Given the description of an element on the screen output the (x, y) to click on. 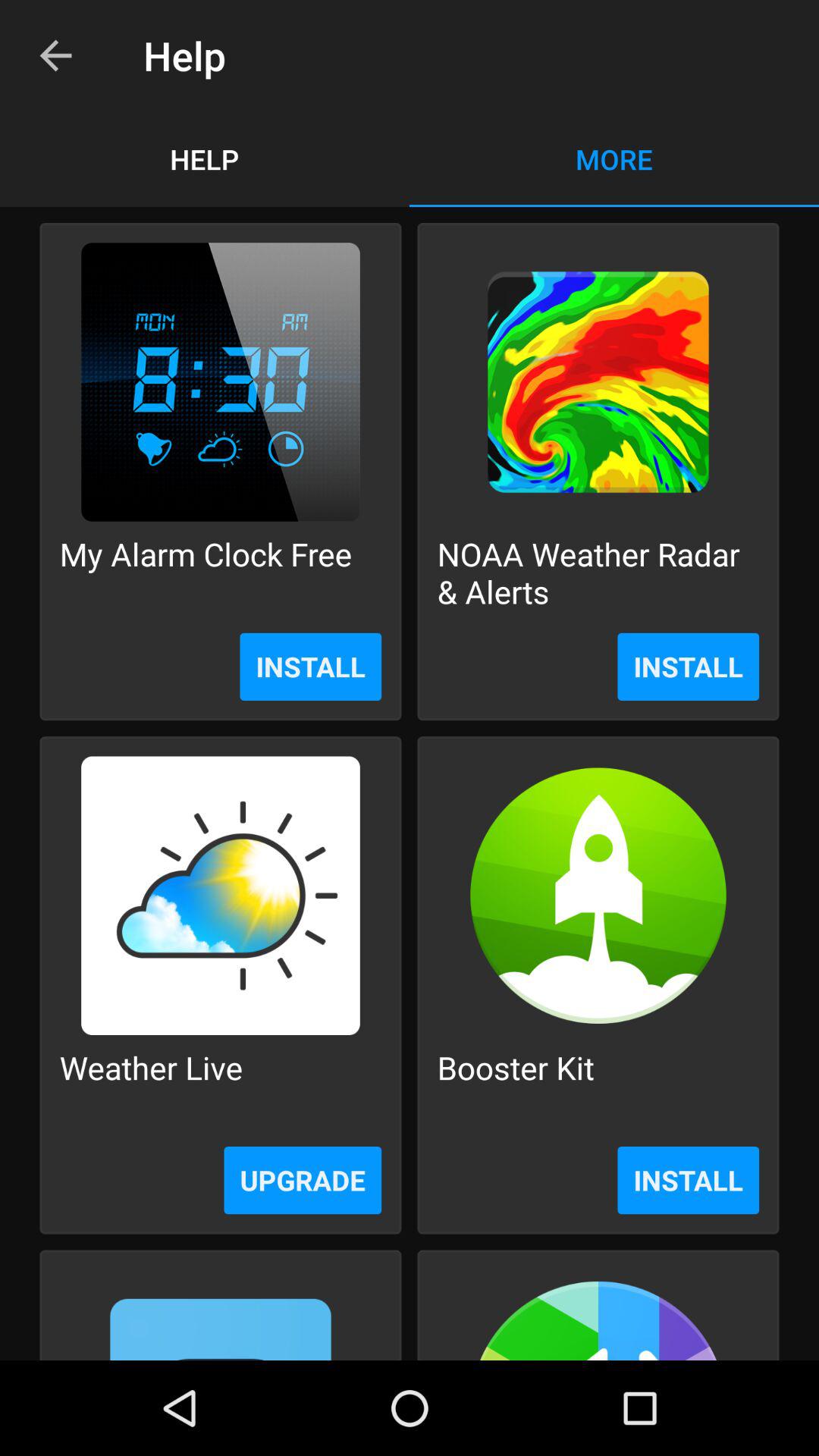
scroll to the upgrade (302, 1180)
